Given the description of an element on the screen output the (x, y) to click on. 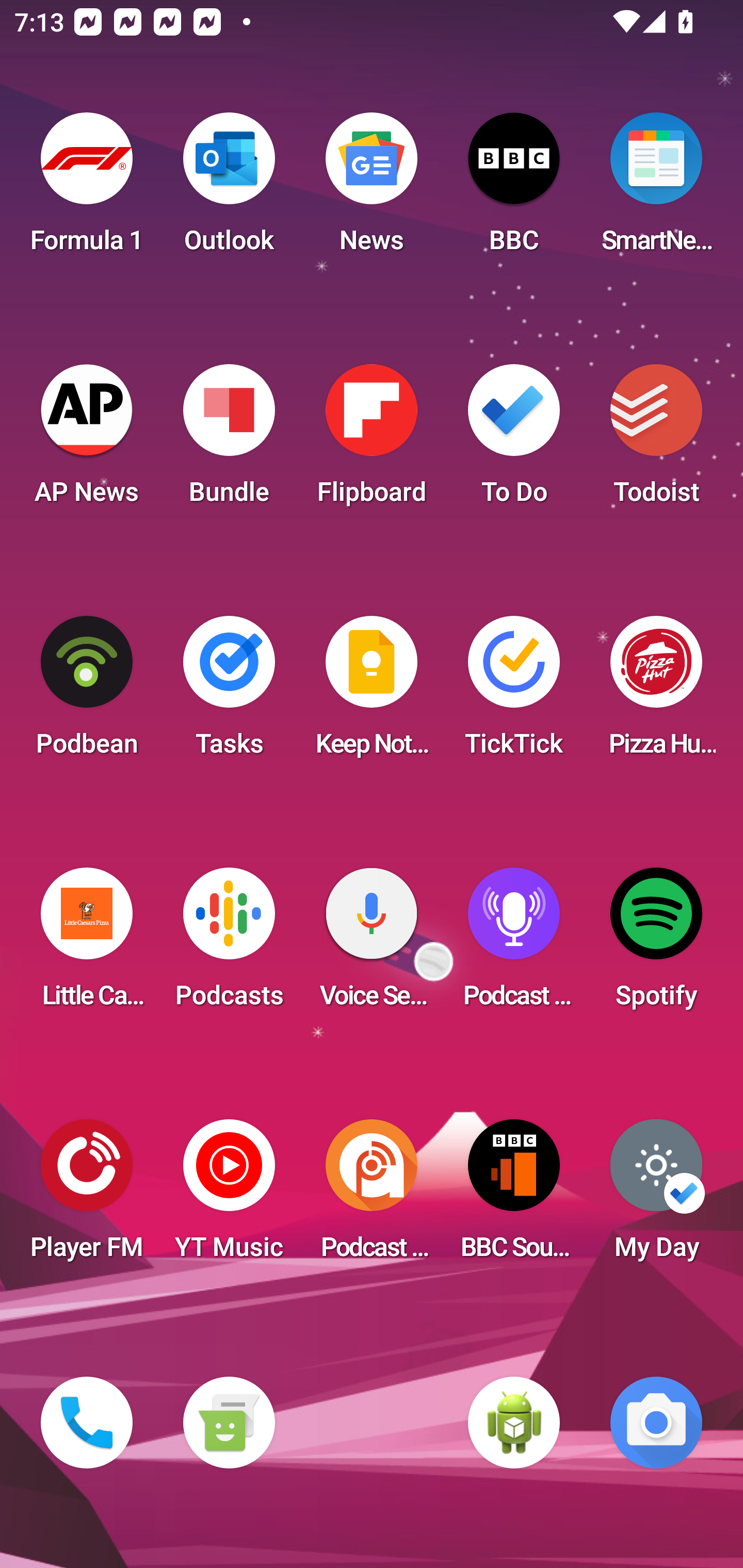
Formula 1 (86, 188)
Outlook (228, 188)
News (371, 188)
BBC (513, 188)
SmartNews (656, 188)
AP News (86, 440)
Bundle (228, 440)
Flipboard (371, 440)
To Do (513, 440)
Todoist (656, 440)
Podbean (86, 692)
Tasks (228, 692)
Keep Notes (371, 692)
TickTick (513, 692)
Pizza Hut HK & Macau (656, 692)
Little Caesars Pizza (86, 943)
Podcasts (228, 943)
Voice Search (371, 943)
Podcast Player (513, 943)
Spotify (656, 943)
Player FM (86, 1195)
YT Music (228, 1195)
Podcast Addict (371, 1195)
BBC Sounds (513, 1195)
My Day (656, 1195)
Phone (86, 1422)
Messaging (228, 1422)
WebView Browser Tester (513, 1422)
Camera (656, 1422)
